Given the description of an element on the screen output the (x, y) to click on. 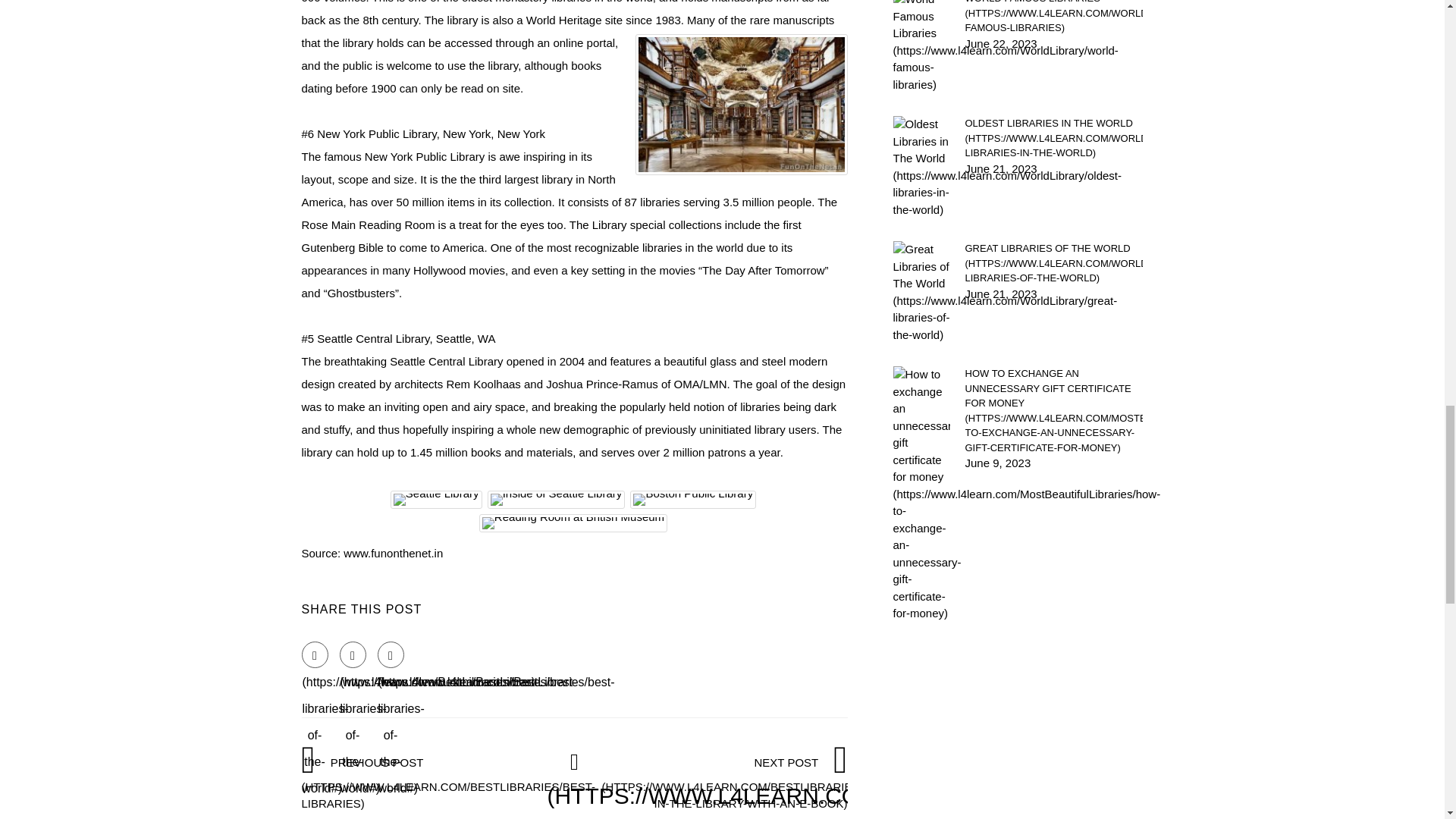
Facebook (315, 654)
Google Plus (390, 654)
Twitter (352, 654)
NEXT POST (753, 782)
PREVIOUS POST (448, 782)
